Given the description of an element on the screen output the (x, y) to click on. 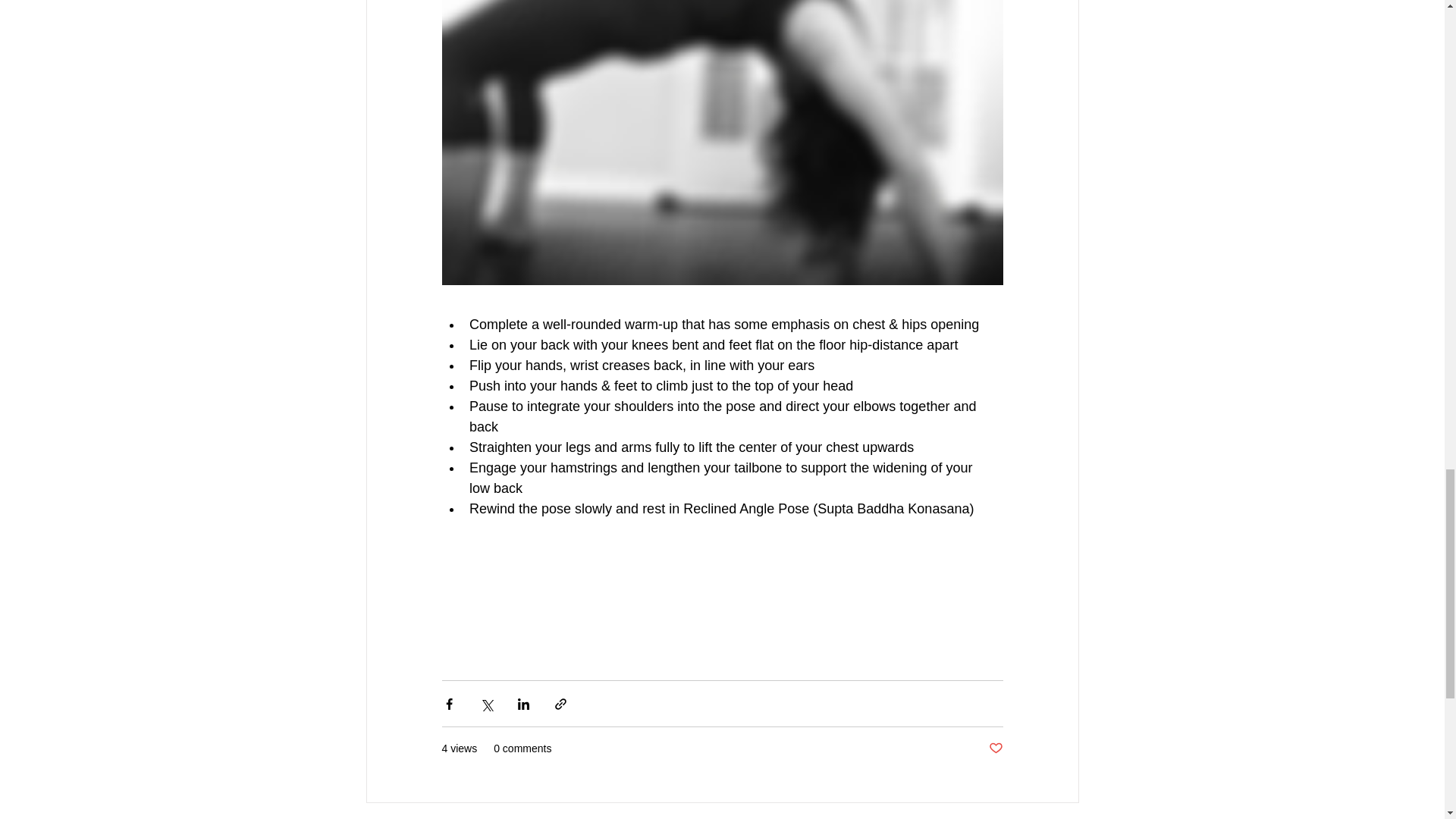
Post not marked as liked (995, 748)
